Given the description of an element on the screen output the (x, y) to click on. 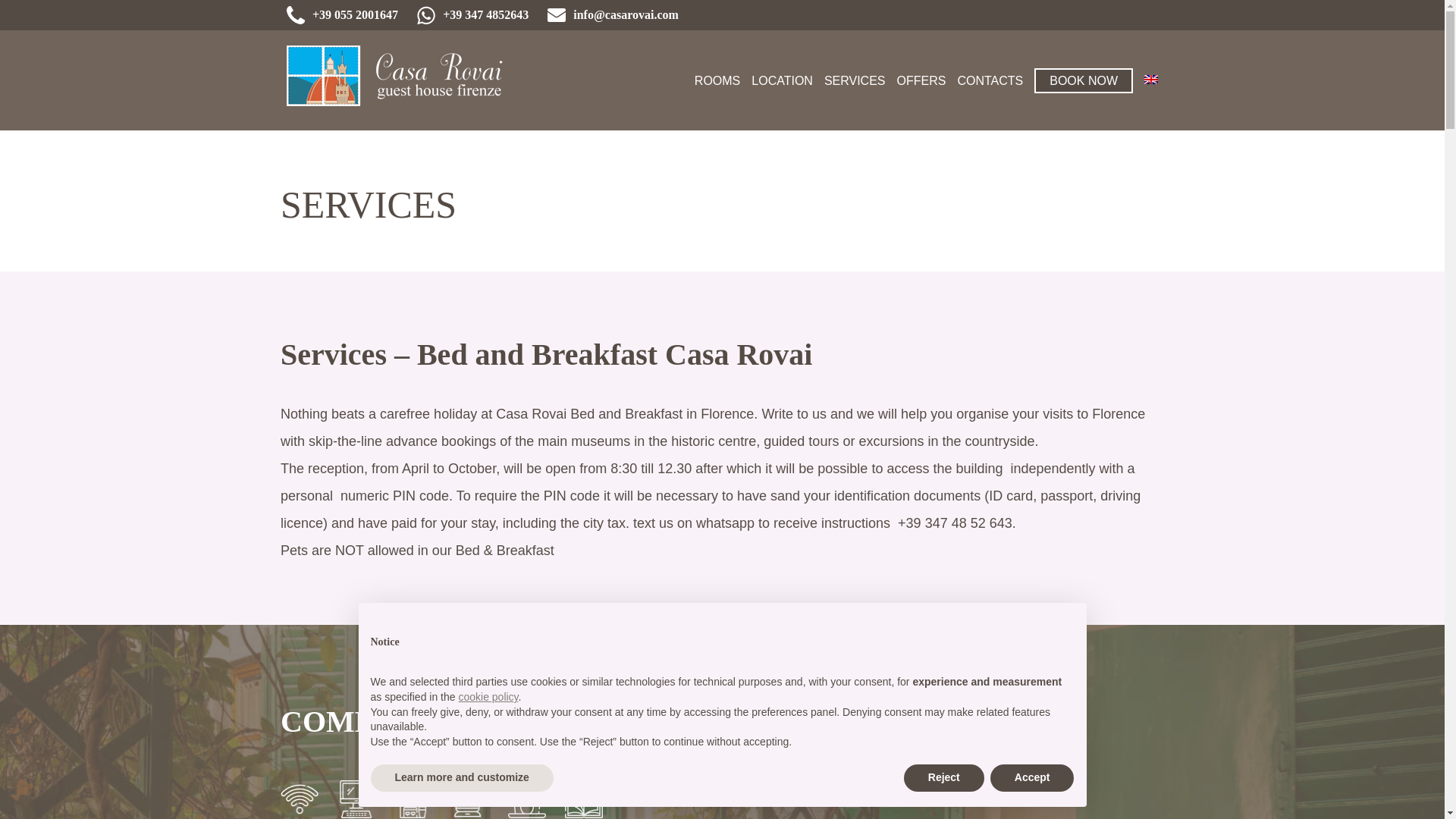
Whatsapp (472, 14)
LOCATION (781, 80)
ROOMS (716, 80)
SERVICES (854, 80)
CONTACTS (989, 80)
Casa Rovai Homepage (399, 80)
Call now (341, 14)
Email (612, 14)
OFFERS (921, 80)
BOOK NOW (1082, 80)
